Given the description of an element on the screen output the (x, y) to click on. 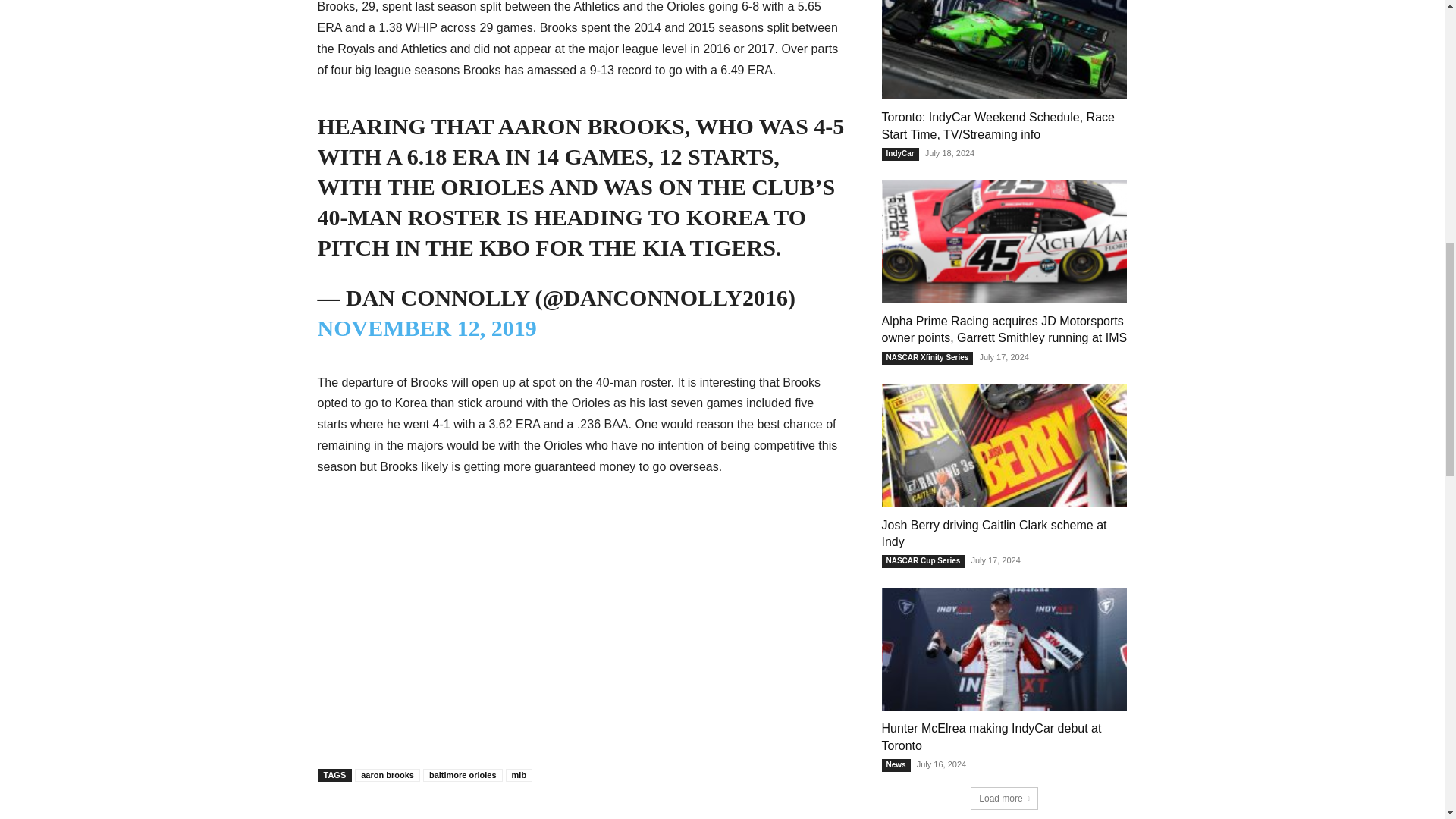
Advertisement (580, 652)
